Given the description of an element on the screen output the (x, y) to click on. 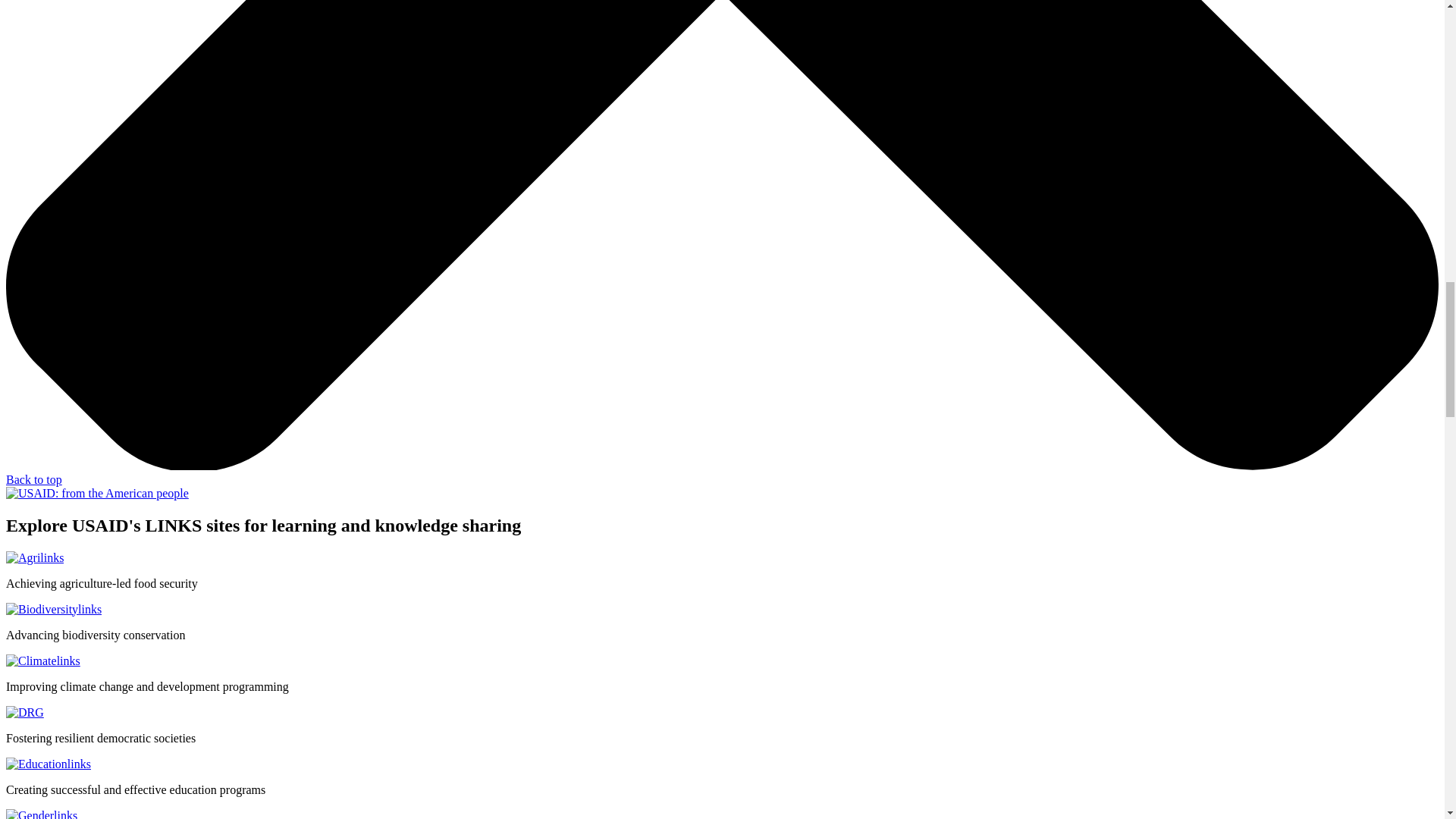
Go to Genderlinks (41, 814)
Go to USAID (97, 492)
Go to DRG (24, 712)
Go to Educationlinks (47, 763)
Go to Agrilinks (34, 557)
Go to Climatelinks (42, 660)
Go to Biodiversitylinks (53, 608)
